Given the description of an element on the screen output the (x, y) to click on. 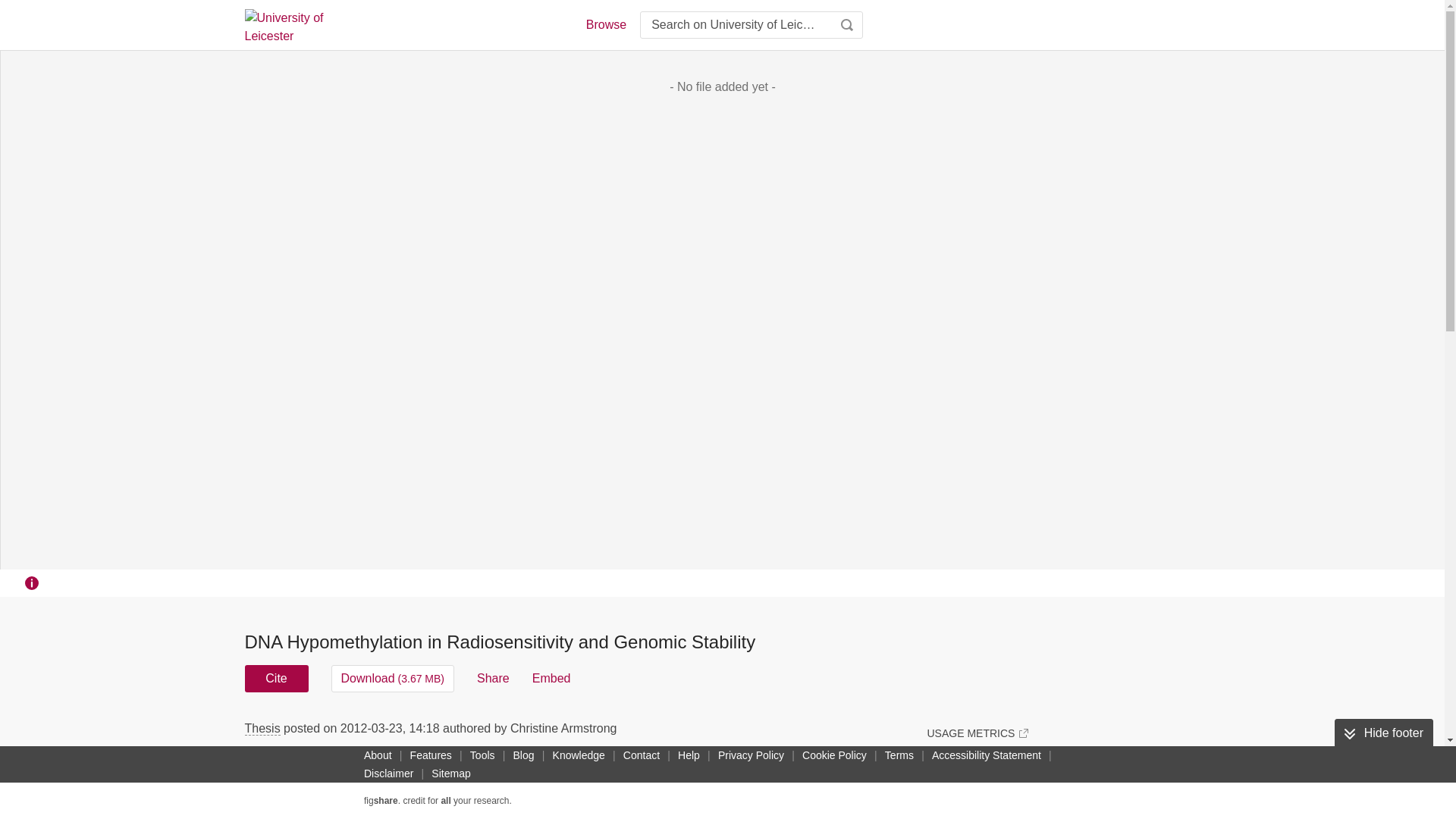
Terms (899, 755)
Browse (605, 24)
Blog (523, 755)
Tools (482, 755)
About (377, 755)
Help (688, 755)
Sitemap (450, 773)
Features (431, 755)
Cite (275, 678)
Share (493, 678)
